Given the description of an element on the screen output the (x, y) to click on. 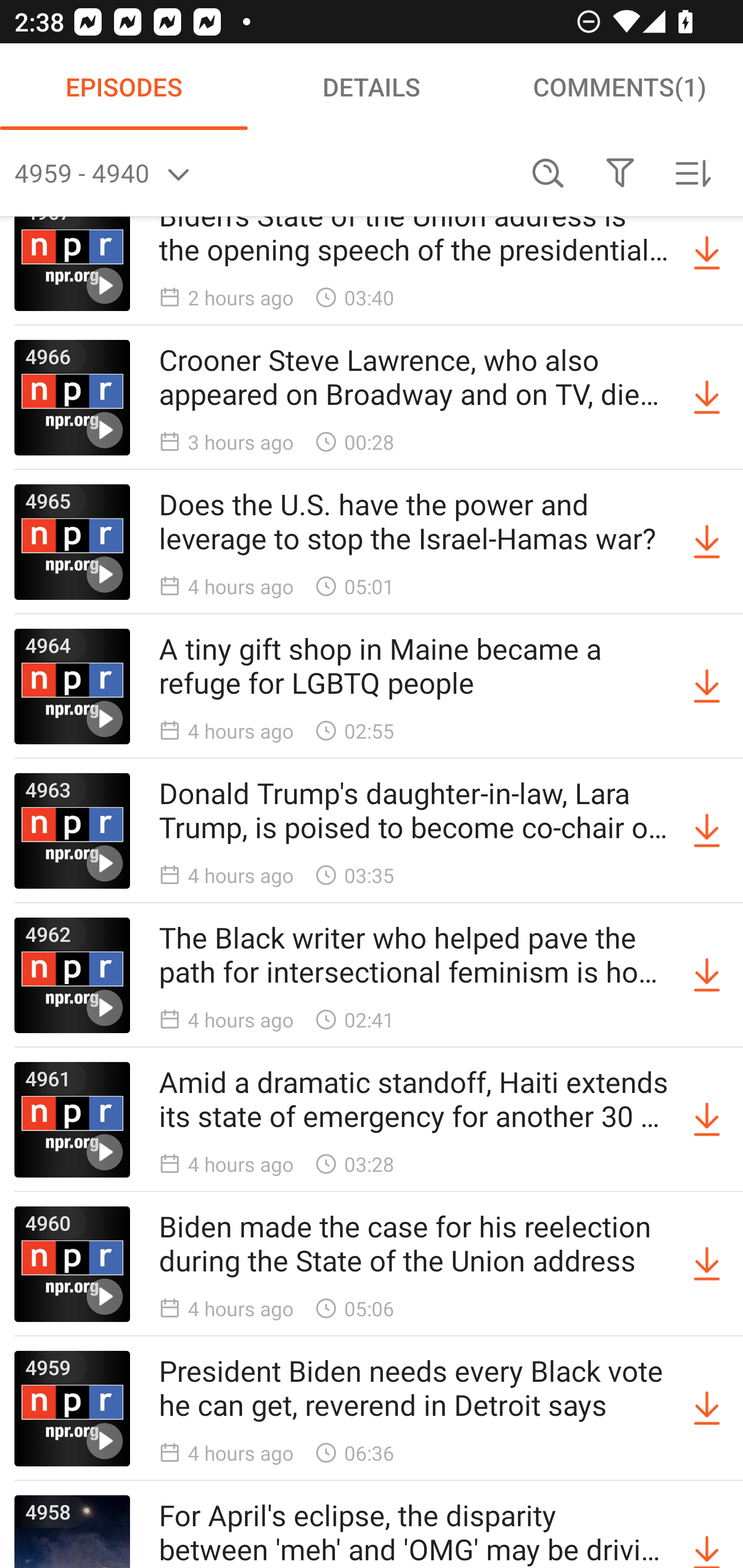
EPISODES (123, 86)
DETAILS (371, 86)
COMMENTS(1) (619, 86)
4959 - 4940  (262, 173)
 Search (547, 173)
 (619, 173)
 Sorted by newest first (692, 173)
Download (706, 253)
Download (706, 397)
Download (706, 542)
Download (706, 686)
Download (706, 831)
Download (706, 975)
Download (706, 1119)
Download (706, 1263)
Download (706, 1408)
Download (706, 1531)
